Given the description of an element on the screen output the (x, y) to click on. 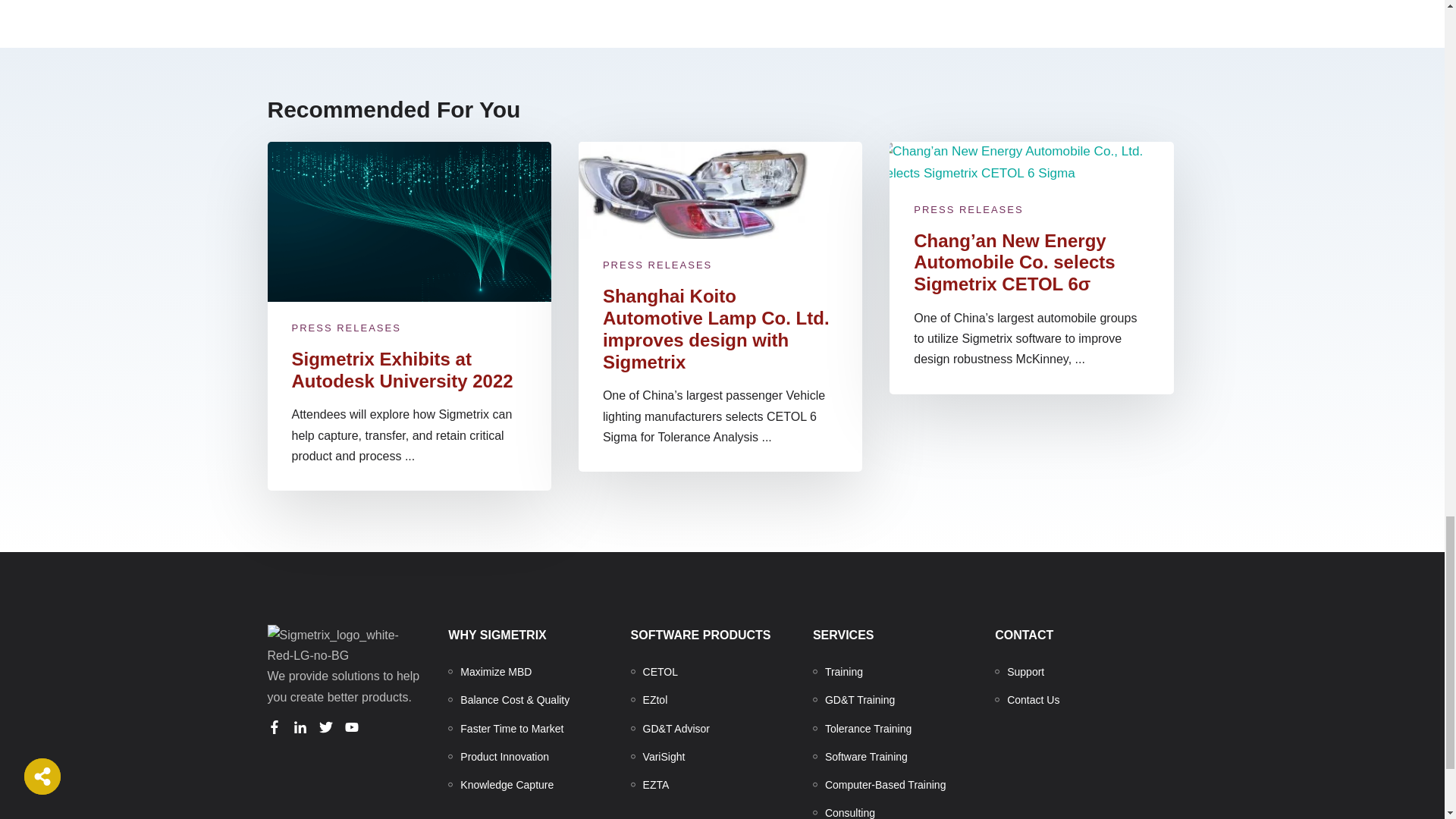
Follow us on Facebook (273, 726)
Follow us on Instagram (350, 726)
Follow us on Twitter (324, 726)
Follow us on LinkedIn (298, 726)
